Given the description of an element on the screen output the (x, y) to click on. 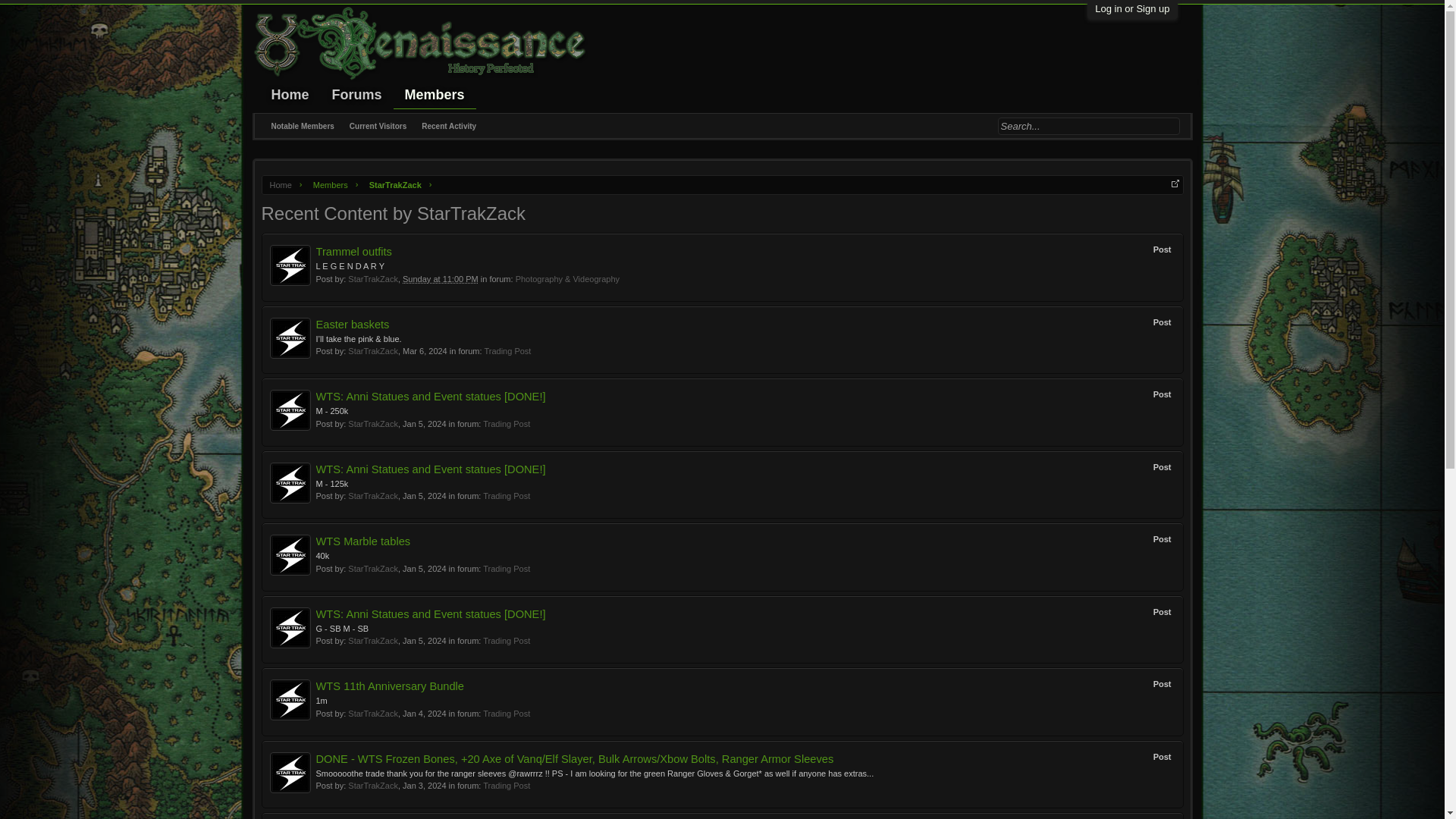
Jan 5, 2024 at 11:45 AM (424, 640)
Trading Post (507, 350)
StarTrakZack (372, 640)
Jan 5, 2024 at 11:46 AM (424, 568)
40k (322, 555)
StarTrakZack (392, 185)
Mar 6, 2024 at 5:01 PM (424, 350)
Home (280, 185)
StarTrakZack (372, 568)
StarTrakZack (372, 423)
M - 125k (331, 483)
Enter your search and hit enter (1088, 126)
M - 250k (331, 410)
Trading Post (506, 423)
StarTrakZack (372, 495)
